Given the description of an element on the screen output the (x, y) to click on. 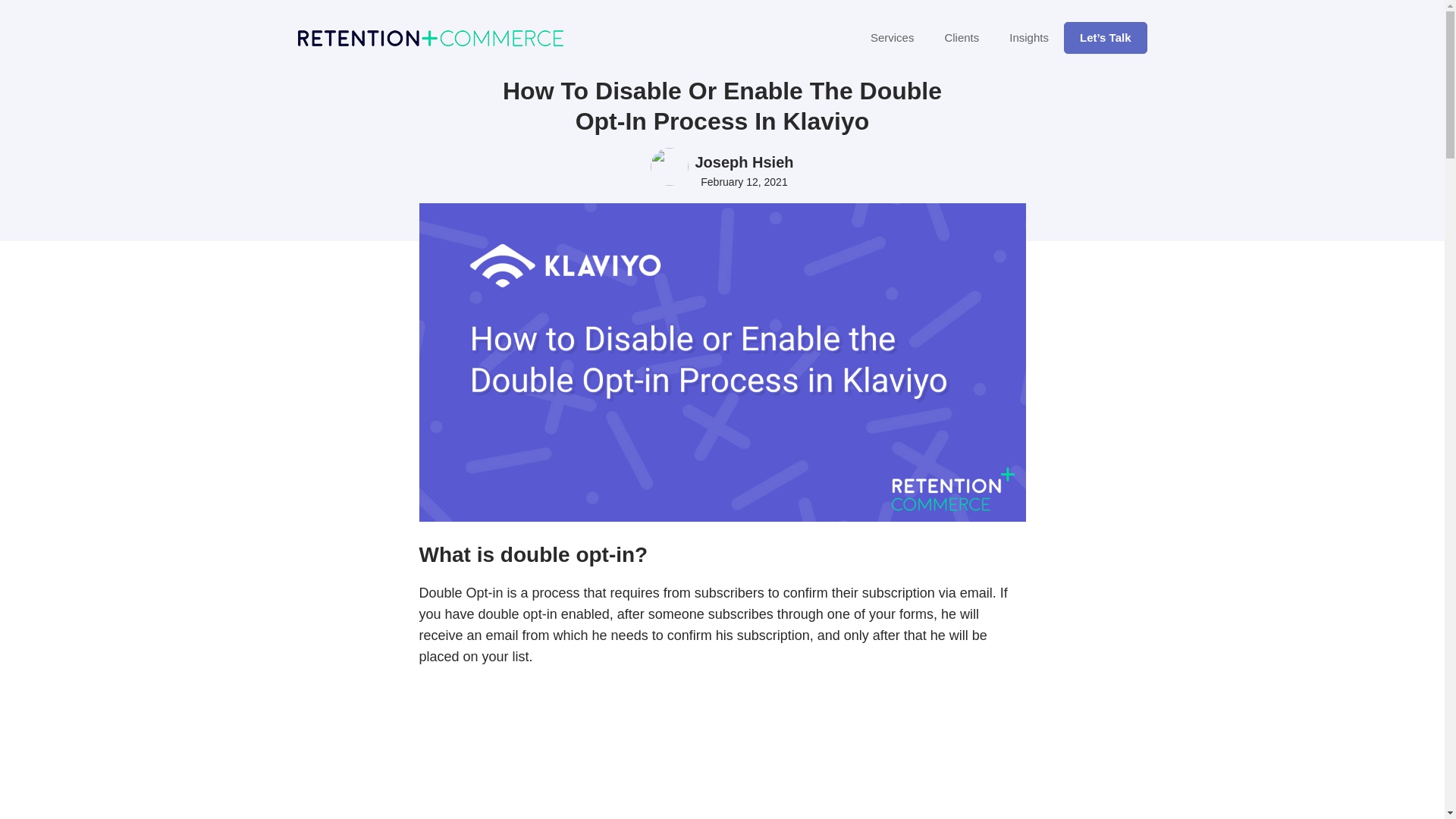
Insights (1029, 37)
Services (893, 37)
Clients (961, 37)
